Given the description of an element on the screen output the (x, y) to click on. 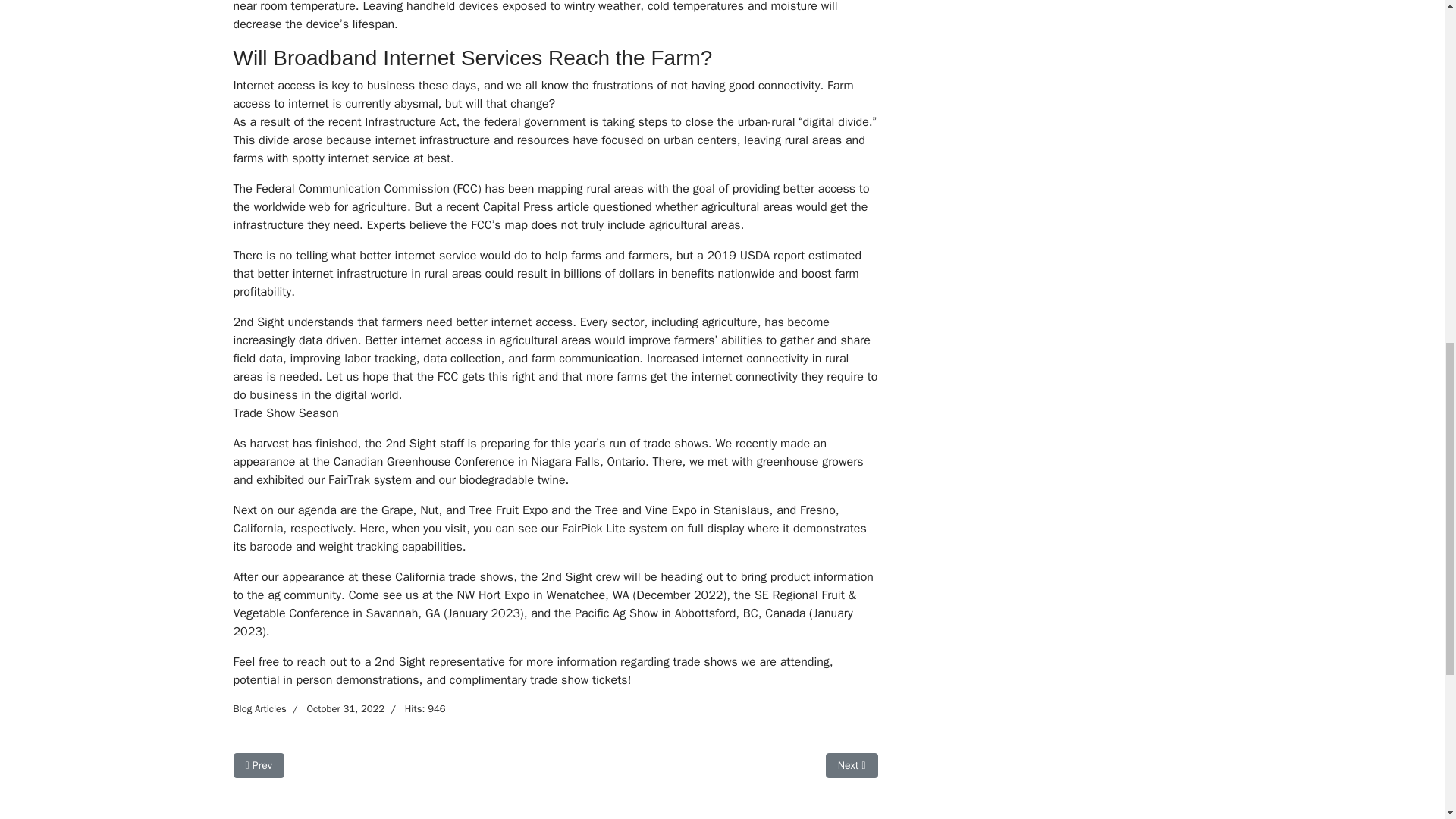
Category: Blog Articles (259, 708)
Published: October 31, 2022 (335, 708)
Blog Articles (257, 765)
